Given the description of an element on the screen output the (x, y) to click on. 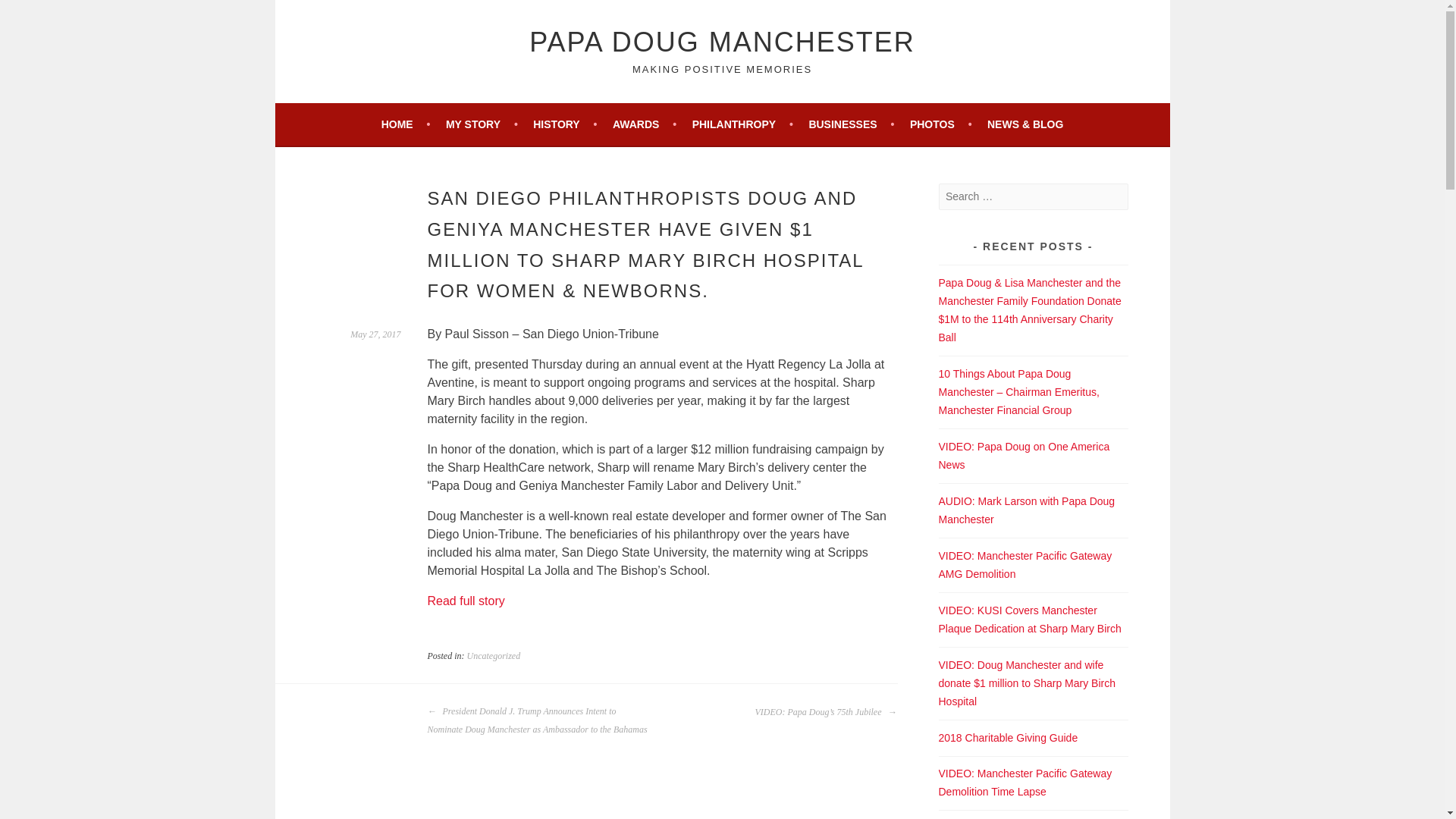
2018 Charitable Giving Guide (1008, 737)
PHILANTHROPY (743, 124)
BUSINESSES (850, 124)
MY STORY (481, 124)
PAPA DOUG MANCHESTER (722, 41)
HOME (405, 124)
Read full story (466, 600)
VIDEO: Papa Doug on One America News (1024, 455)
AWARDS (644, 124)
Papa Doug Manchester (722, 41)
AUDIO: Mark Larson with Papa Doug Manchester (1027, 510)
May 27, 2017 (375, 334)
HISTORY (564, 124)
